Given the description of an element on the screen output the (x, y) to click on. 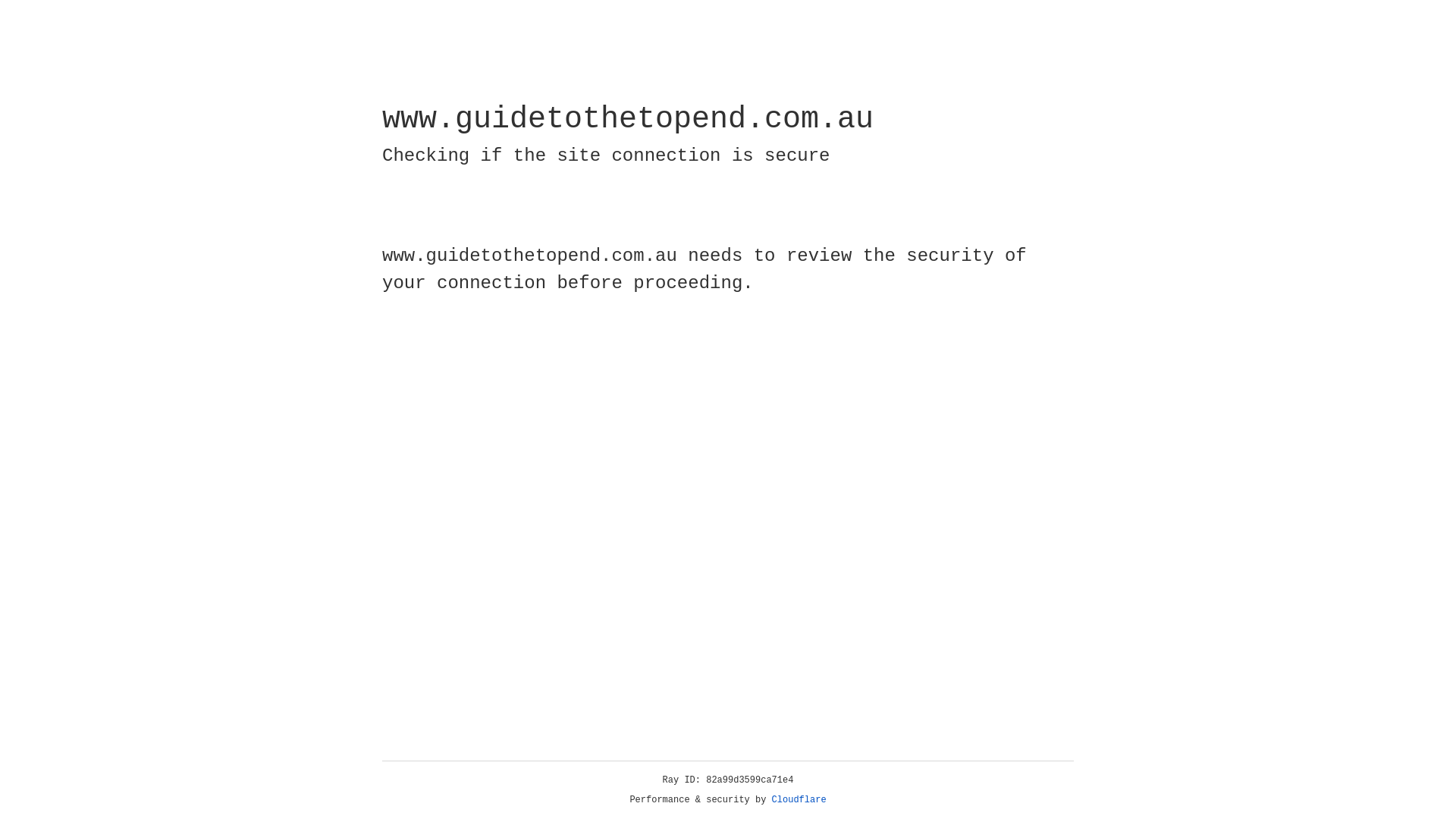
Cloudflare Element type: text (798, 799)
